Given the description of an element on the screen output the (x, y) to click on. 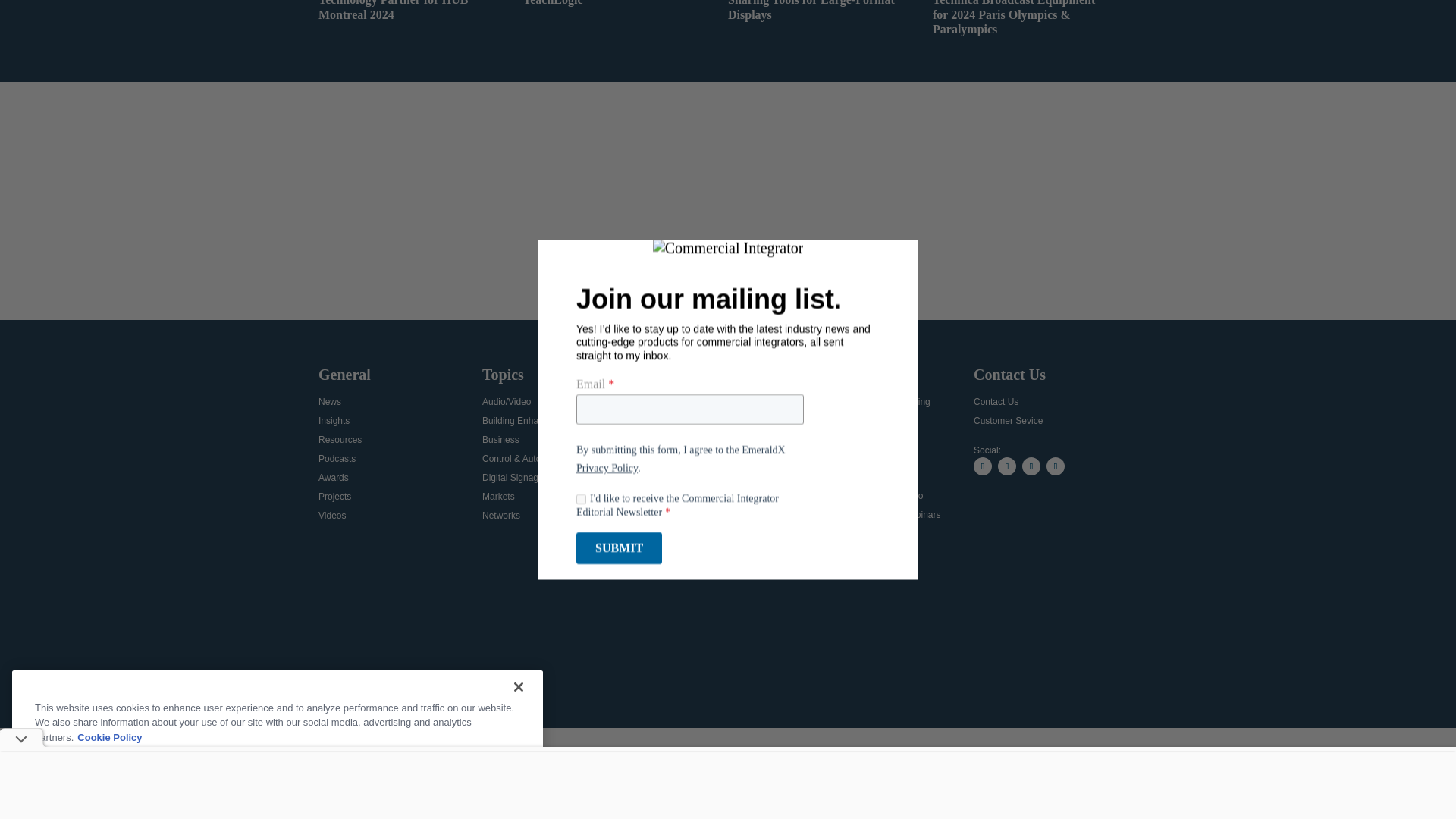
Follow on Facebook (1006, 466)
Follow on LinkedIn (1031, 466)
Follow on X (982, 466)
